Given the description of an element on the screen output the (x, y) to click on. 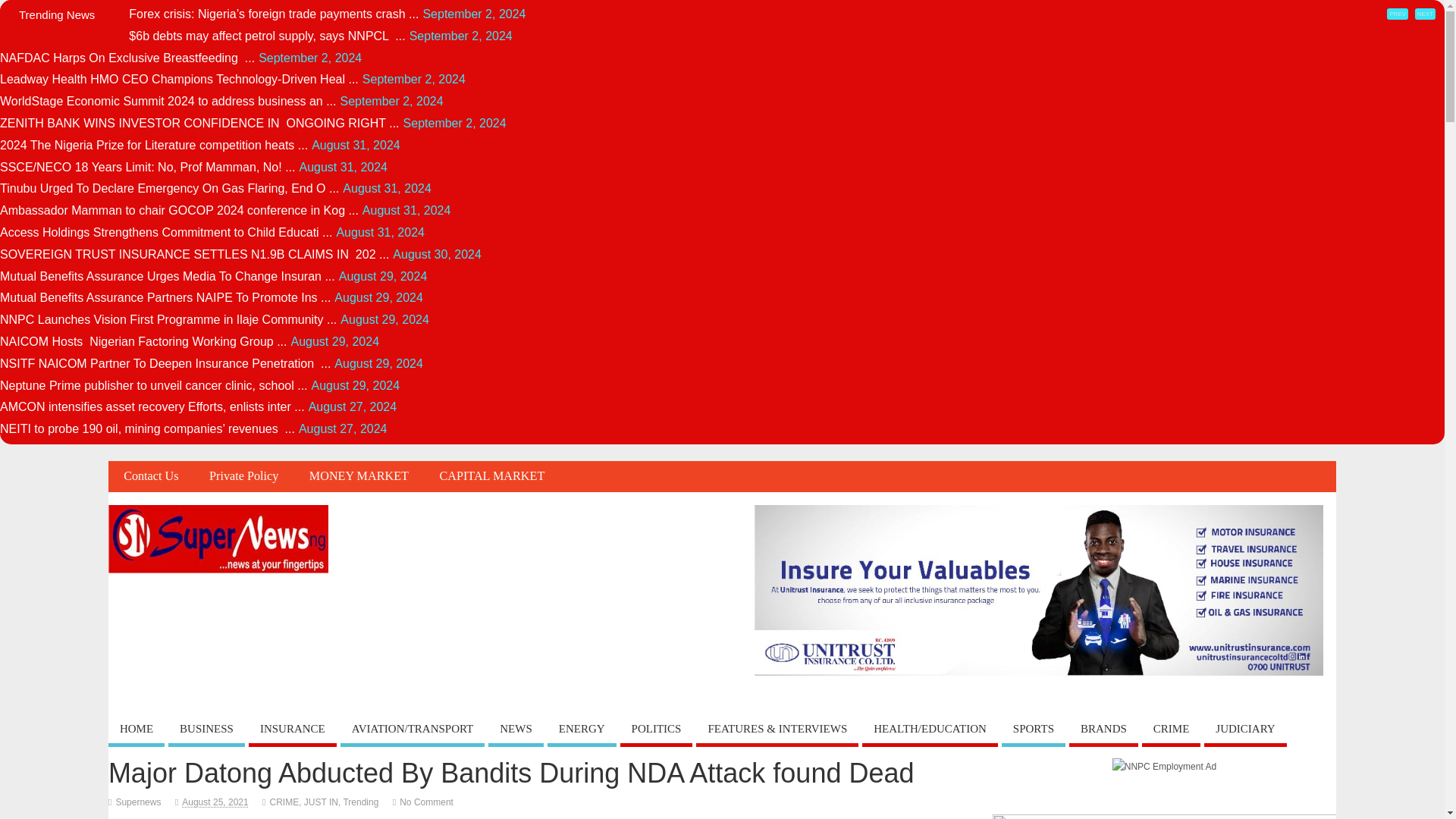
Access Holdings Strengthens Commitment to Child Educati ... (165, 232)
Mutual Benefits Assurance Partners NAIPE To Promote Ins ... (165, 297)
NSITF NAICOM Partner To Deepen Insurance Penetration  ... (165, 363)
Neptune Prime publisher to unveil cancer clinic, school ... (153, 385)
AMCON intensifies asset recovery Efforts, enlists inter ... (152, 406)
SOVEREIGN TRUST INSURANCE SETTLES N1.9B CLAIMS IN  202 ... (194, 254)
CAPITAL MARKET (491, 476)
Ambassador Mamman to chair GOCOP 2024 conference in Kog ... (179, 210)
Posts by Supernews (137, 801)
NAICOM Hosts  Nigerian Factoring Working Group ... (143, 341)
